Given the description of an element on the screen output the (x, y) to click on. 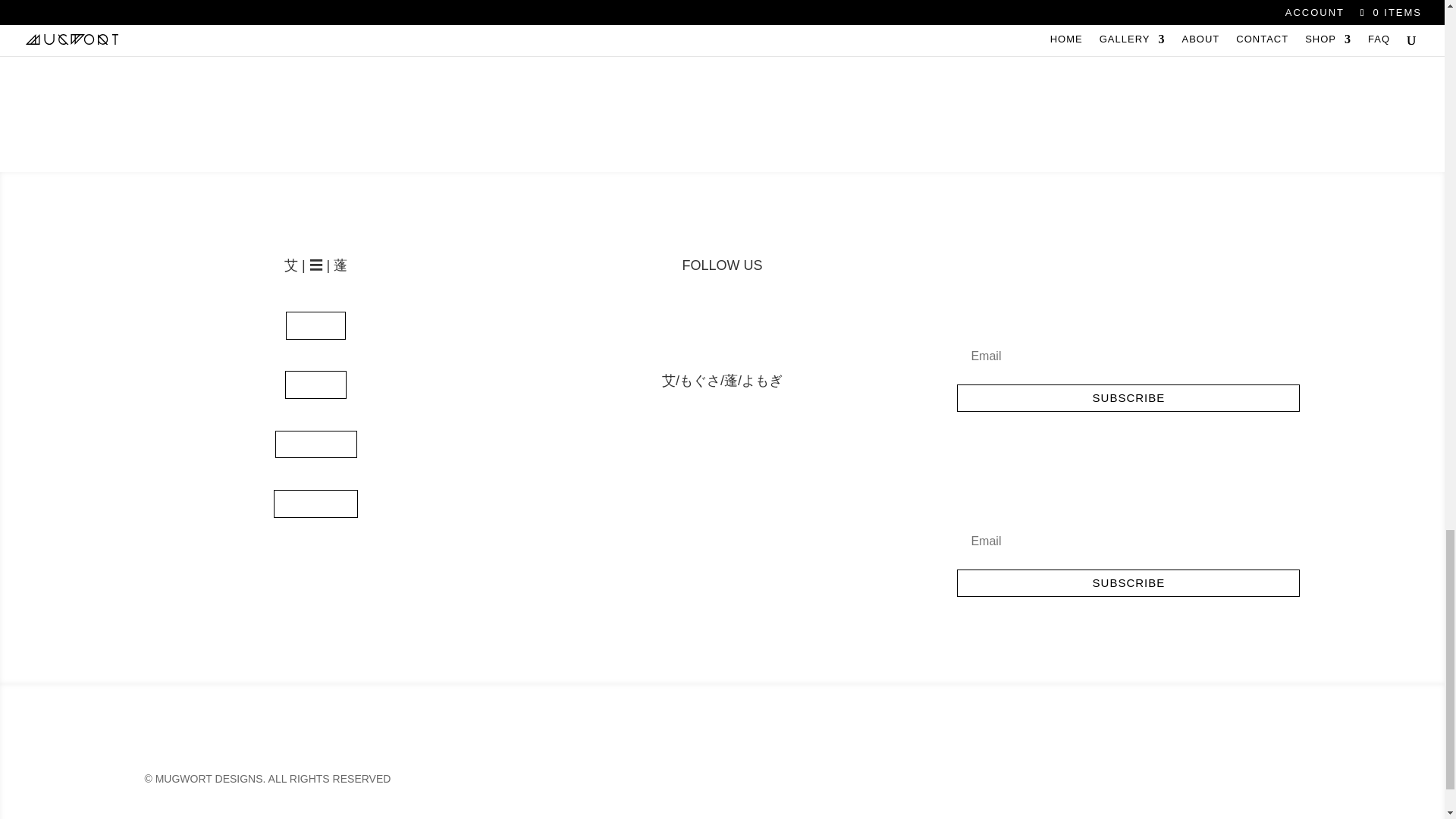
Follow on X (737, 323)
Follow on Instagram (675, 323)
Follow on Pinterest (766, 323)
Follow on Facebook (706, 323)
